Given the description of an element on the screen output the (x, y) to click on. 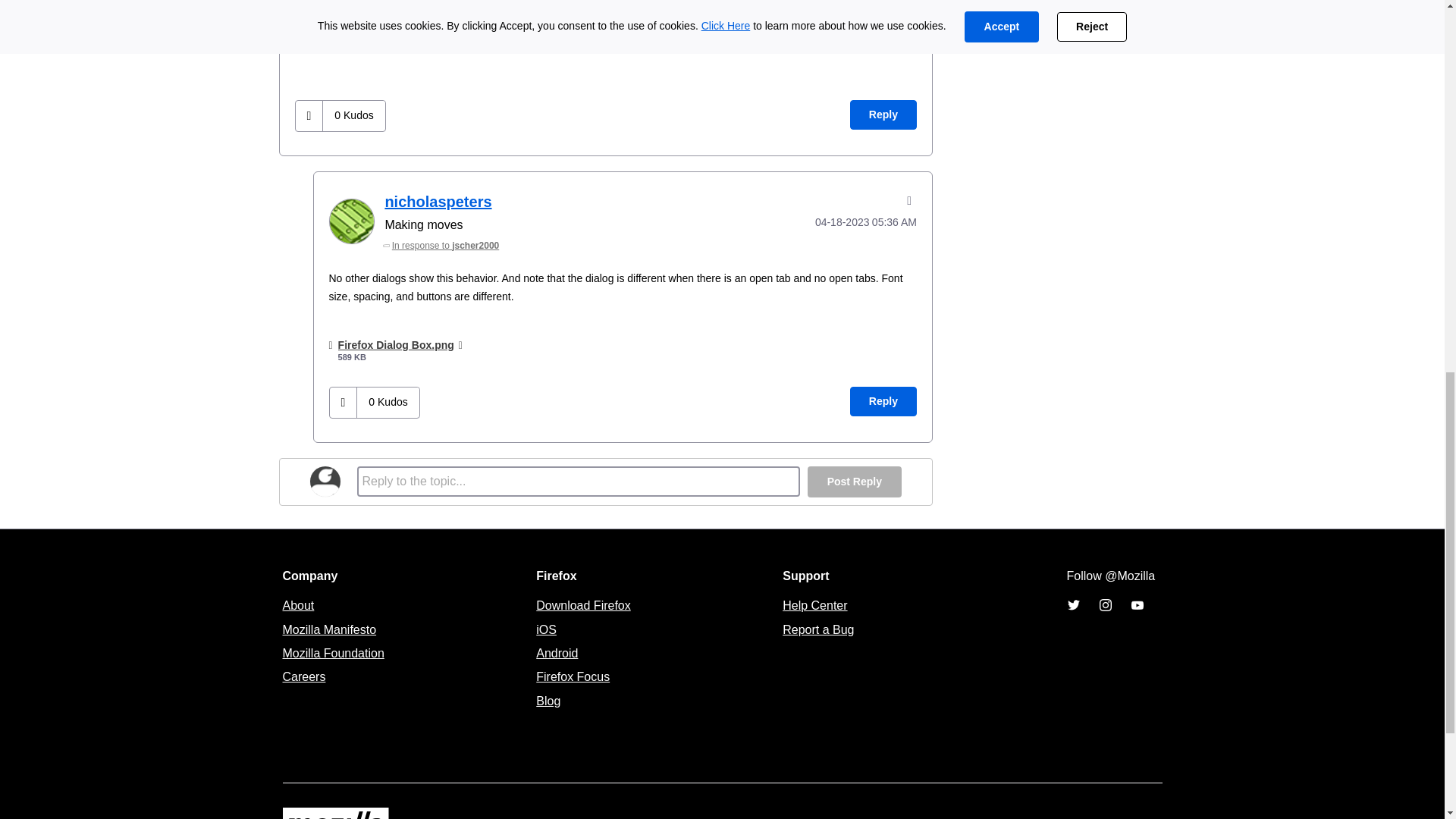
The total number of kudos this post has received. (353, 114)
